Given the description of an element on the screen output the (x, y) to click on. 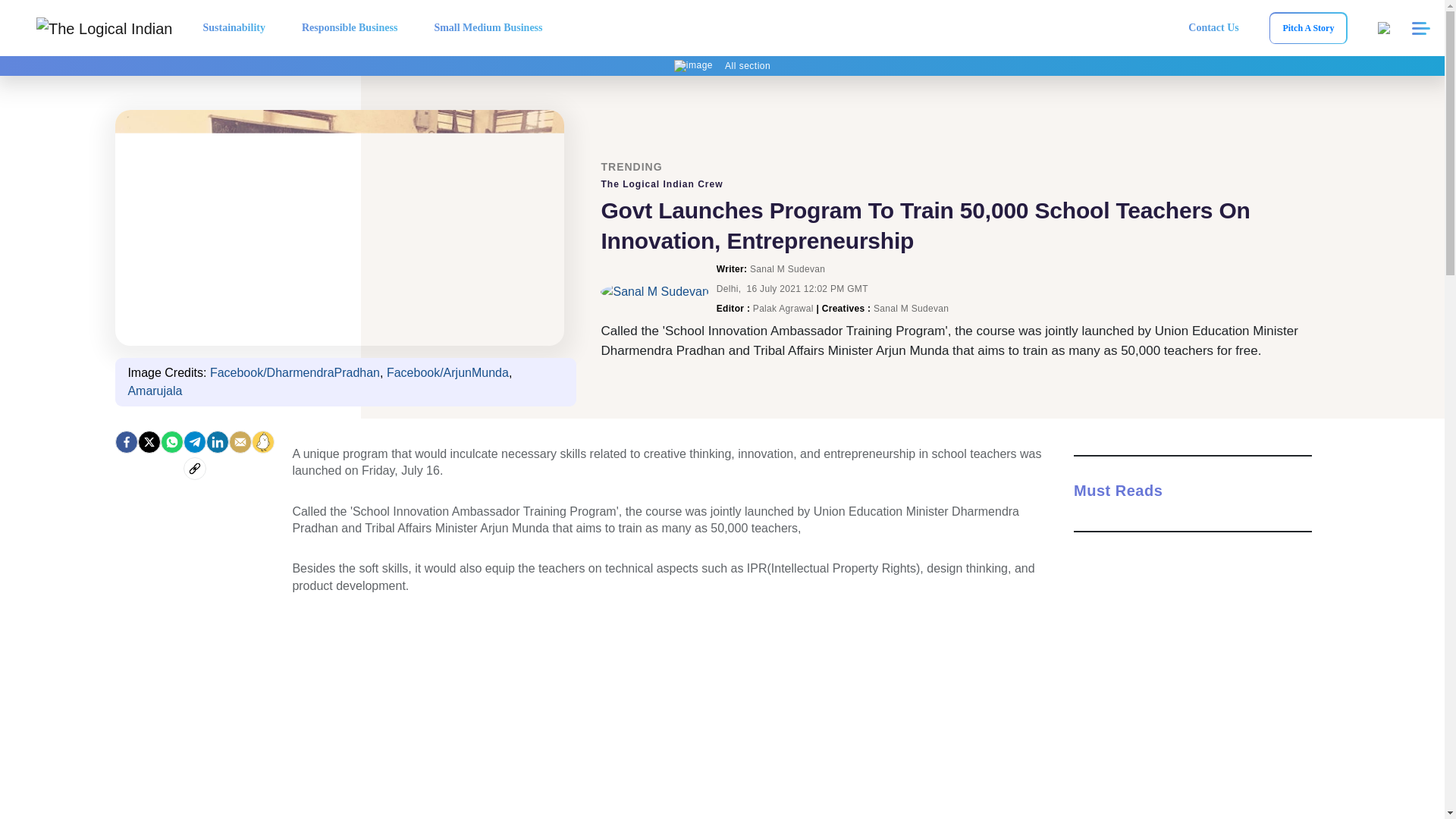
Small Medium Business (487, 27)
Sanal M Sudevan (653, 291)
Pitch A Story (1307, 28)
Sustainability (233, 27)
Share by Email (239, 441)
Responsible Business (348, 27)
The Logical Indian (103, 28)
Twitter Tweet (671, 718)
LinkedIn (217, 441)
Contact Us (1213, 27)
